Given the description of an element on the screen output the (x, y) to click on. 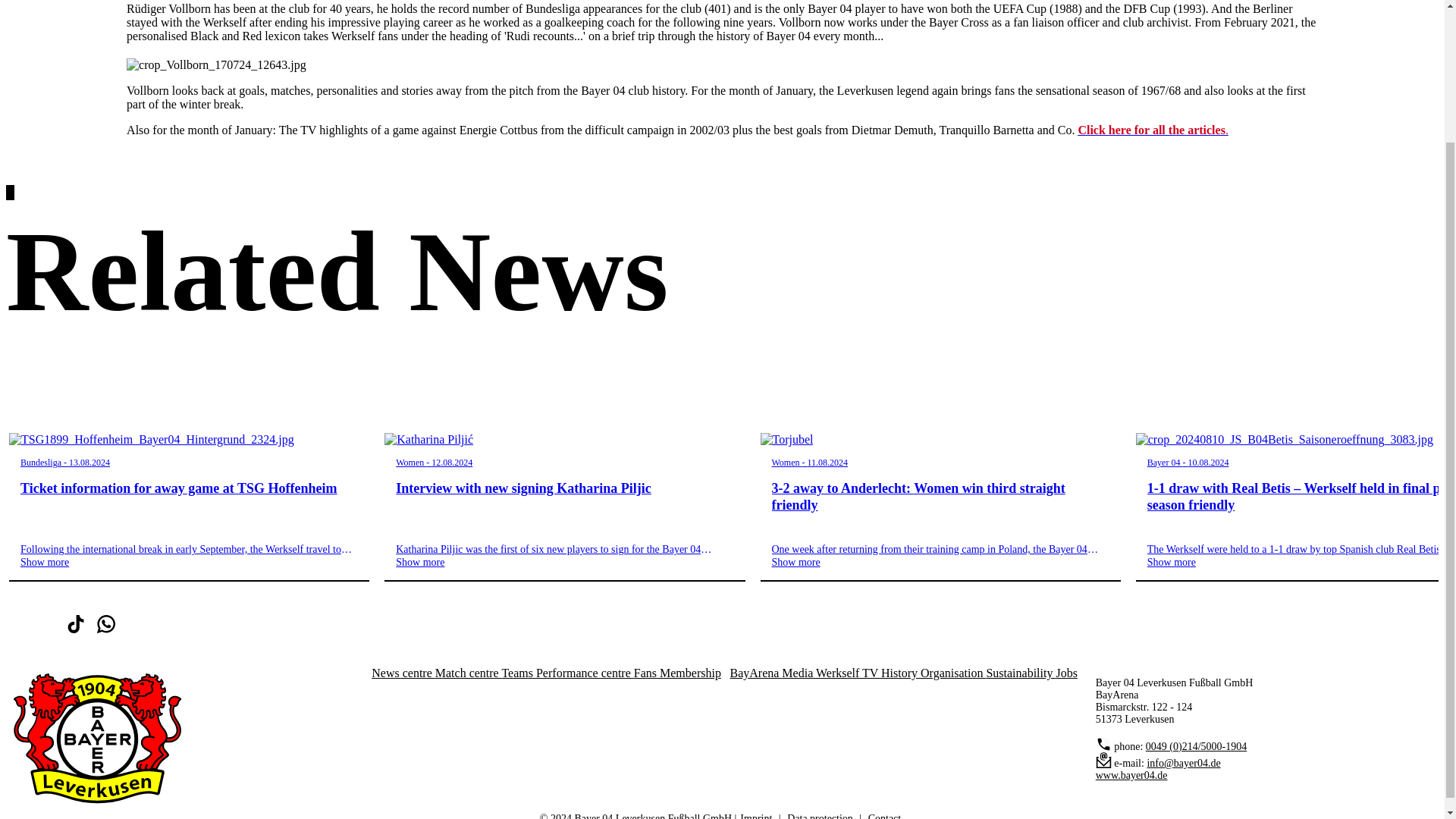
Sustainability (1020, 672)
Rudi recounts (1152, 129)
BayArena (755, 672)
Performance centre (584, 672)
Organisation (952, 672)
Werkself TV (847, 672)
www.bayer04.de (1131, 775)
Membership (689, 672)
Fans (646, 672)
News centre (403, 672)
